Given the description of an element on the screen output the (x, y) to click on. 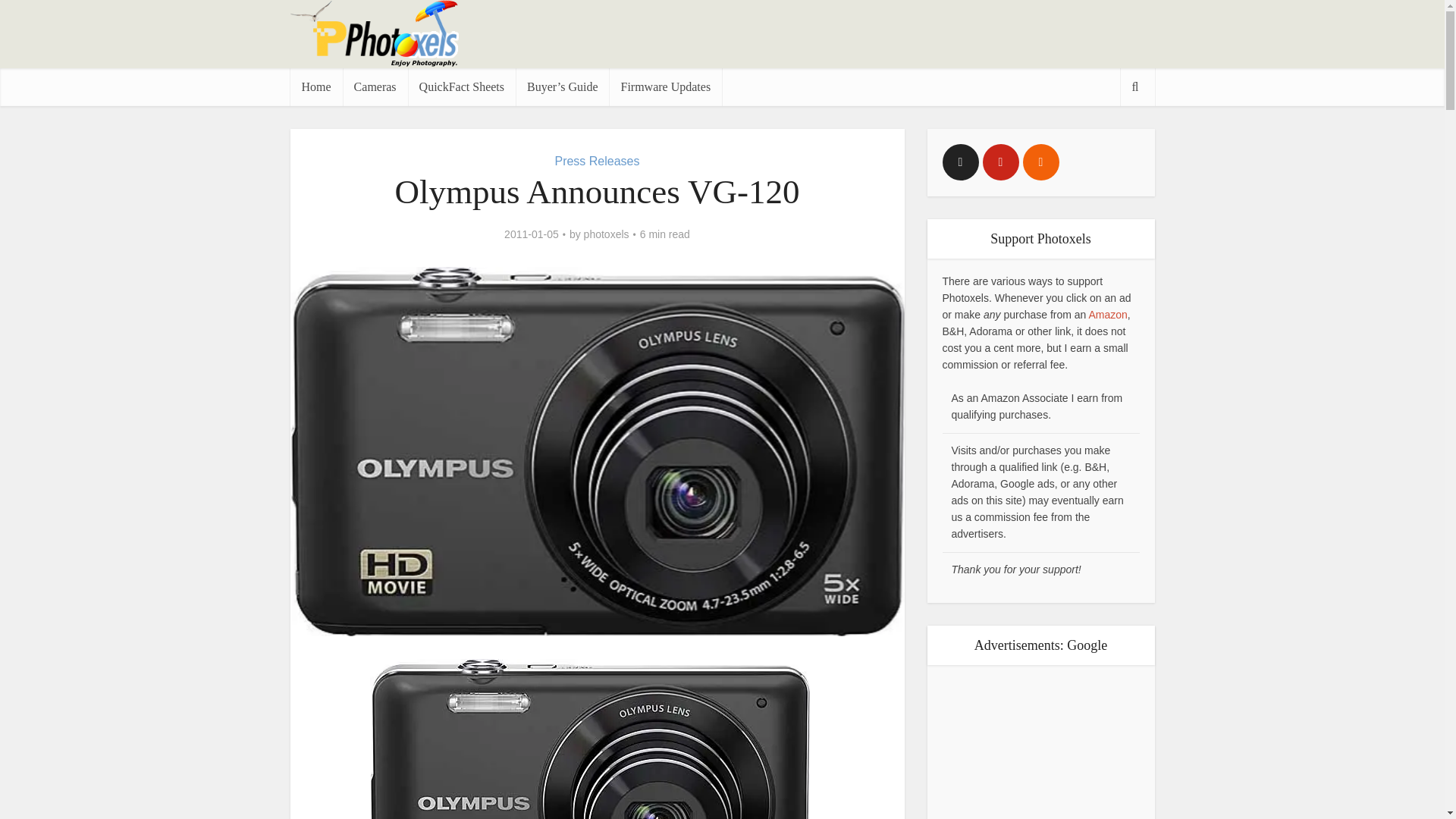
photoxels (605, 233)
Press Releases (596, 160)
Cameras (374, 86)
Olympus VG-120 (589, 789)
Firmware Updates (665, 86)
QuickFact Sheets (461, 86)
Home (315, 86)
